Given the description of an element on the screen output the (x, y) to click on. 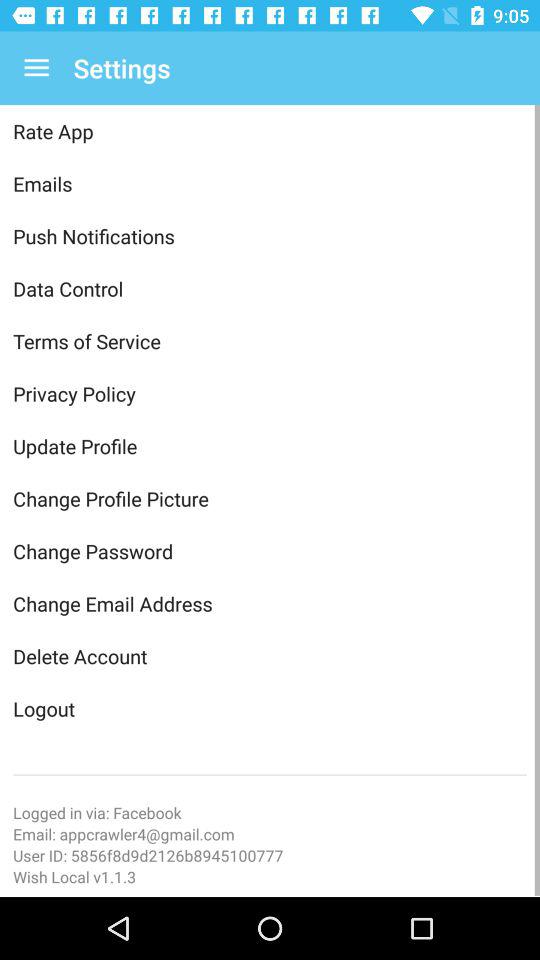
tap the item above rate app item (36, 68)
